Given the description of an element on the screen output the (x, y) to click on. 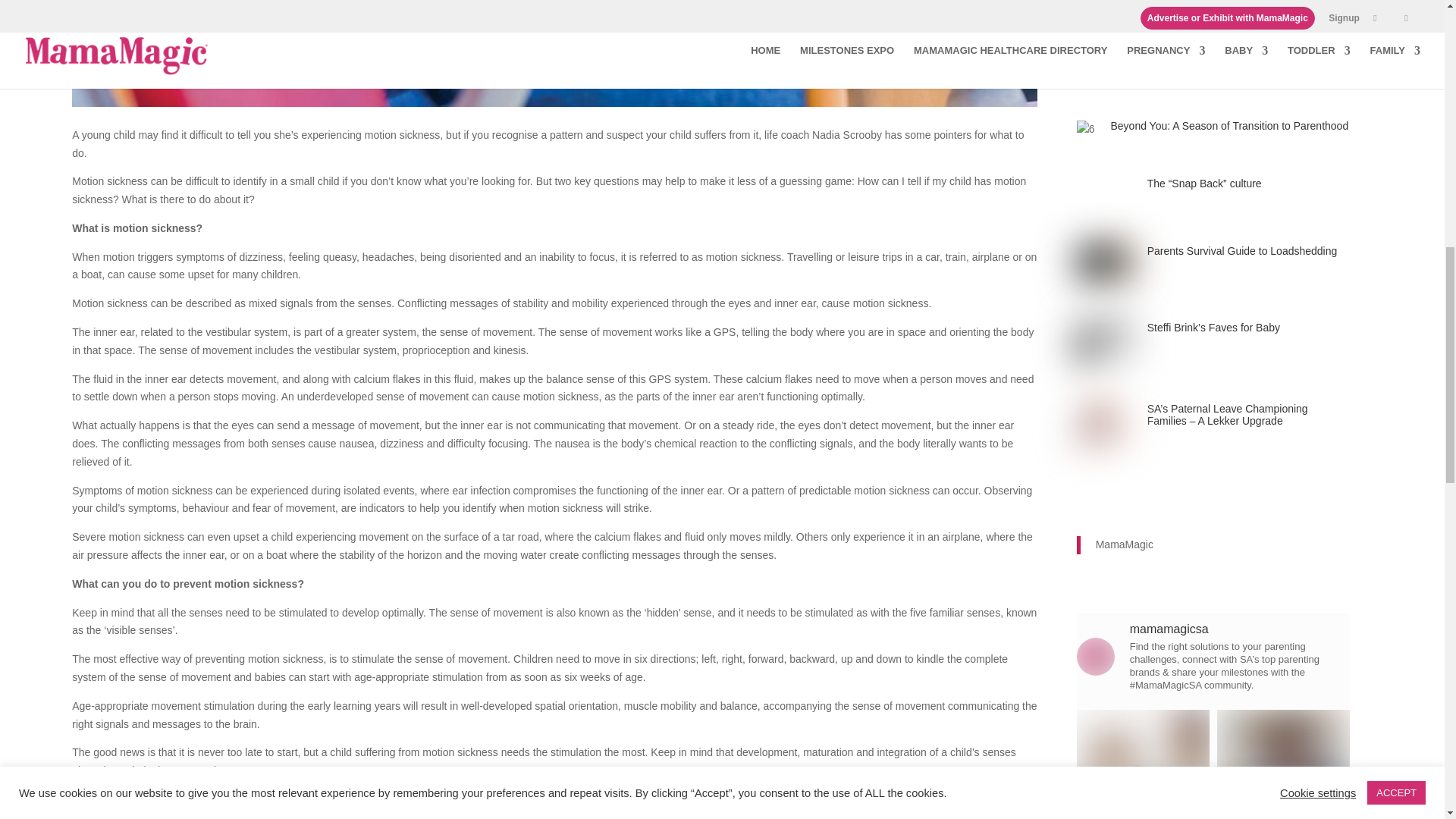
6 (1085, 68)
The snapback (1104, 191)
3 (1104, 342)
4 (1085, 10)
2 (1104, 423)
6 (1085, 129)
motion-sickness (553, 53)
